Given the description of an element on the screen output the (x, y) to click on. 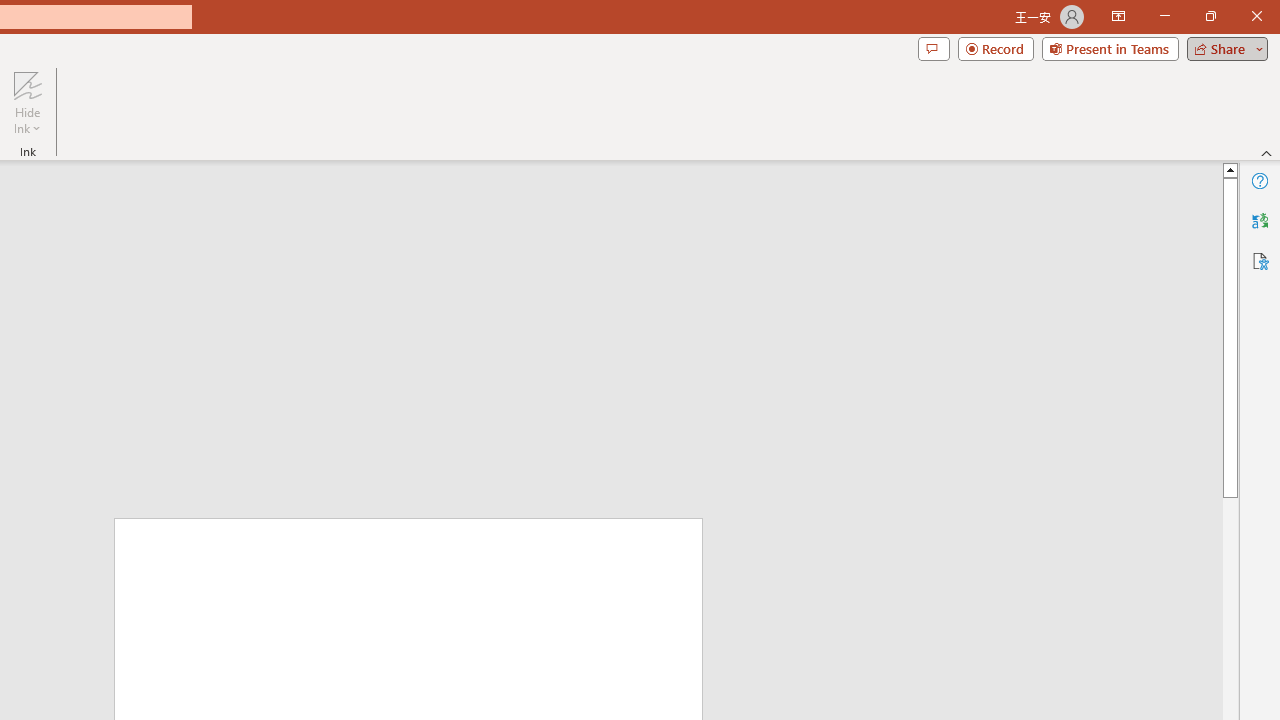
Translator (1260, 220)
Hide Ink (27, 84)
Hide Ink (27, 102)
Line up (1230, 169)
